Given the description of an element on the screen output the (x, y) to click on. 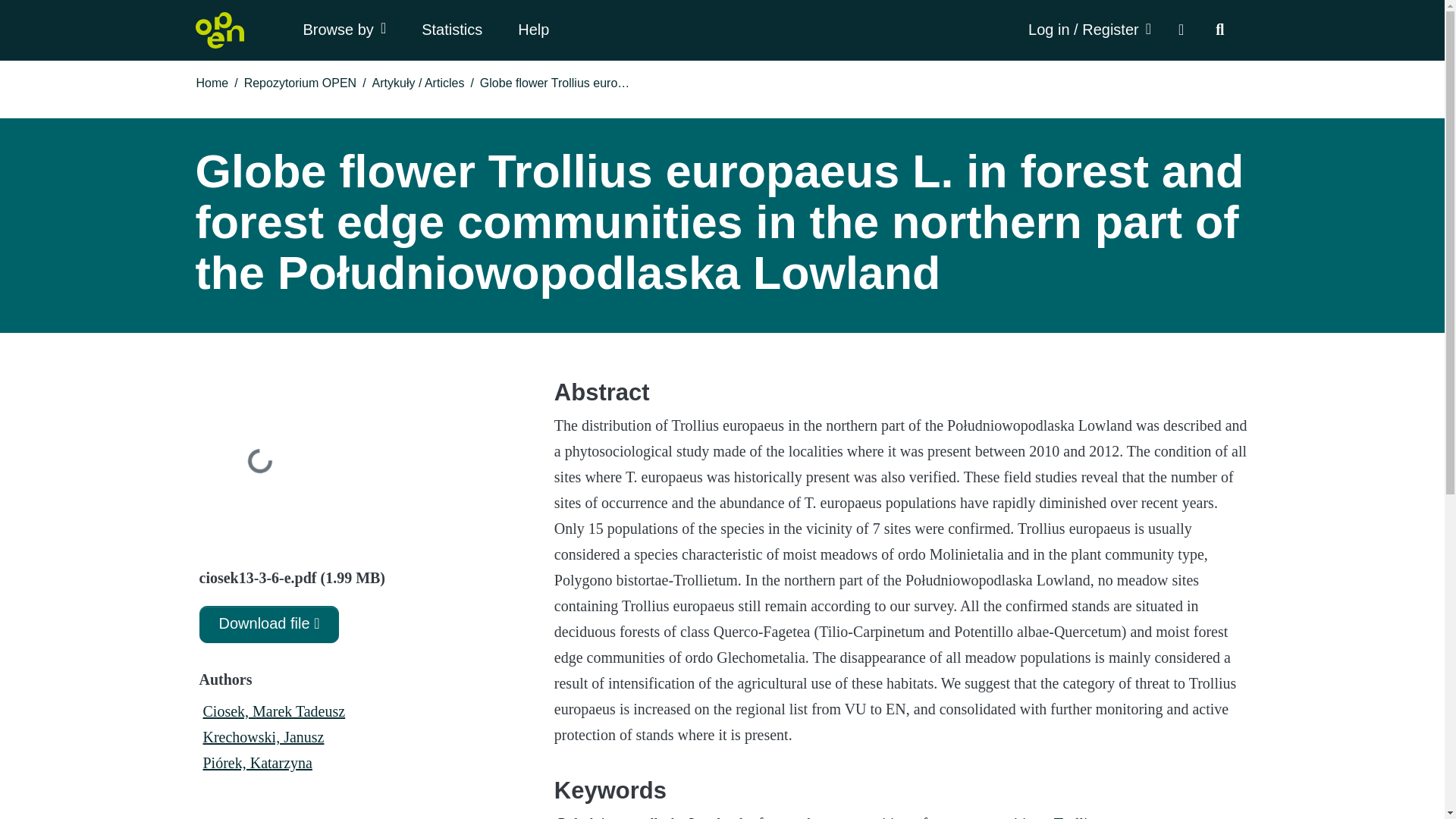
Download file (268, 624)
Search (1219, 30)
Statistics (450, 29)
Trollius europaeus (1107, 816)
Help (533, 29)
Help (533, 29)
Language switch (1180, 30)
Krechowski, Janusz (263, 736)
forest communities (980, 816)
Browse by (345, 29)
Home (211, 83)
Ciosek, Marek Tadeusz (274, 711)
Statistics (450, 29)
forest edge communities (832, 816)
Repozytorium OPEN (300, 83)
